Given the description of an element on the screen output the (x, y) to click on. 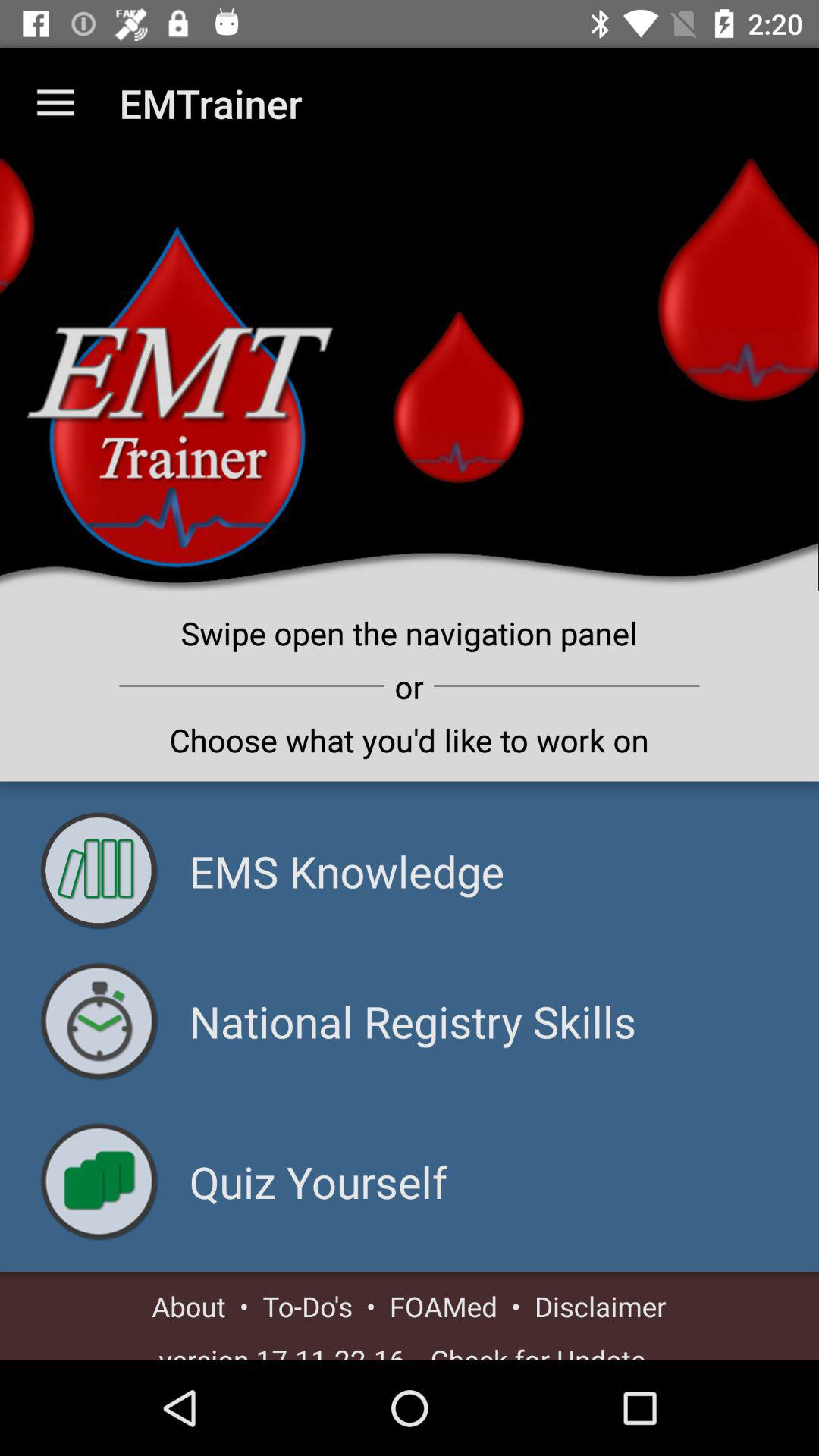
click icon above - check for update - item (600, 1306)
